Given the description of an element on the screen output the (x, y) to click on. 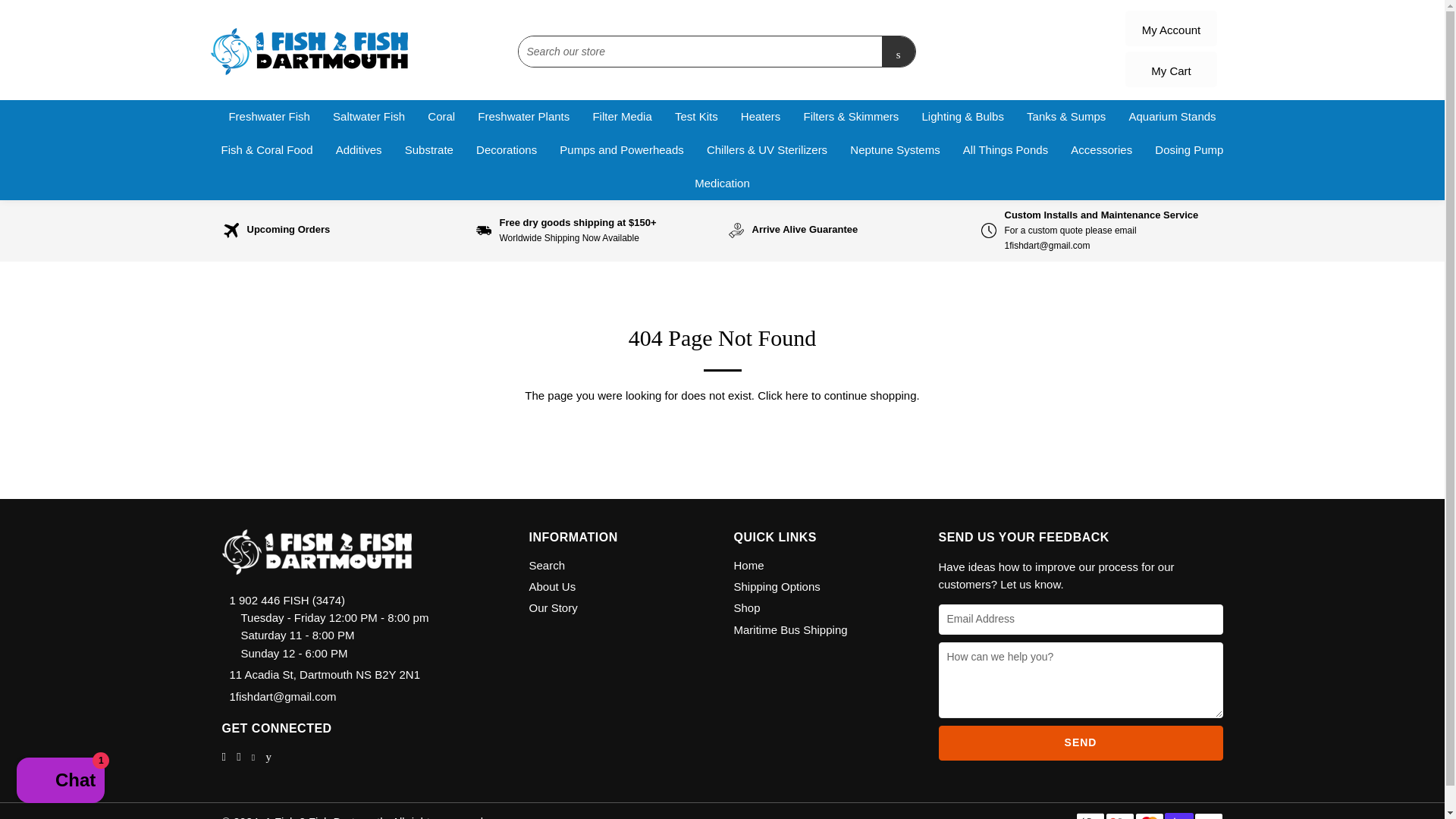
Apple Pay (1089, 816)
1 Fish 2 Fish Dartmouth on Facebook (224, 756)
Mastercard (1148, 816)
1 Fish 2 Fish Dartmouth on Google Plus (254, 756)
Shop Pay (1178, 816)
1 Fish 2 Fish Dartmouth on YouTube (269, 756)
Google Pay (1119, 816)
Shopify online store chat (60, 781)
Visa (1208, 816)
Send (1081, 742)
1 Fish 2 Fish Dartmouth on Instagram (239, 756)
